Given the description of an element on the screen output the (x, y) to click on. 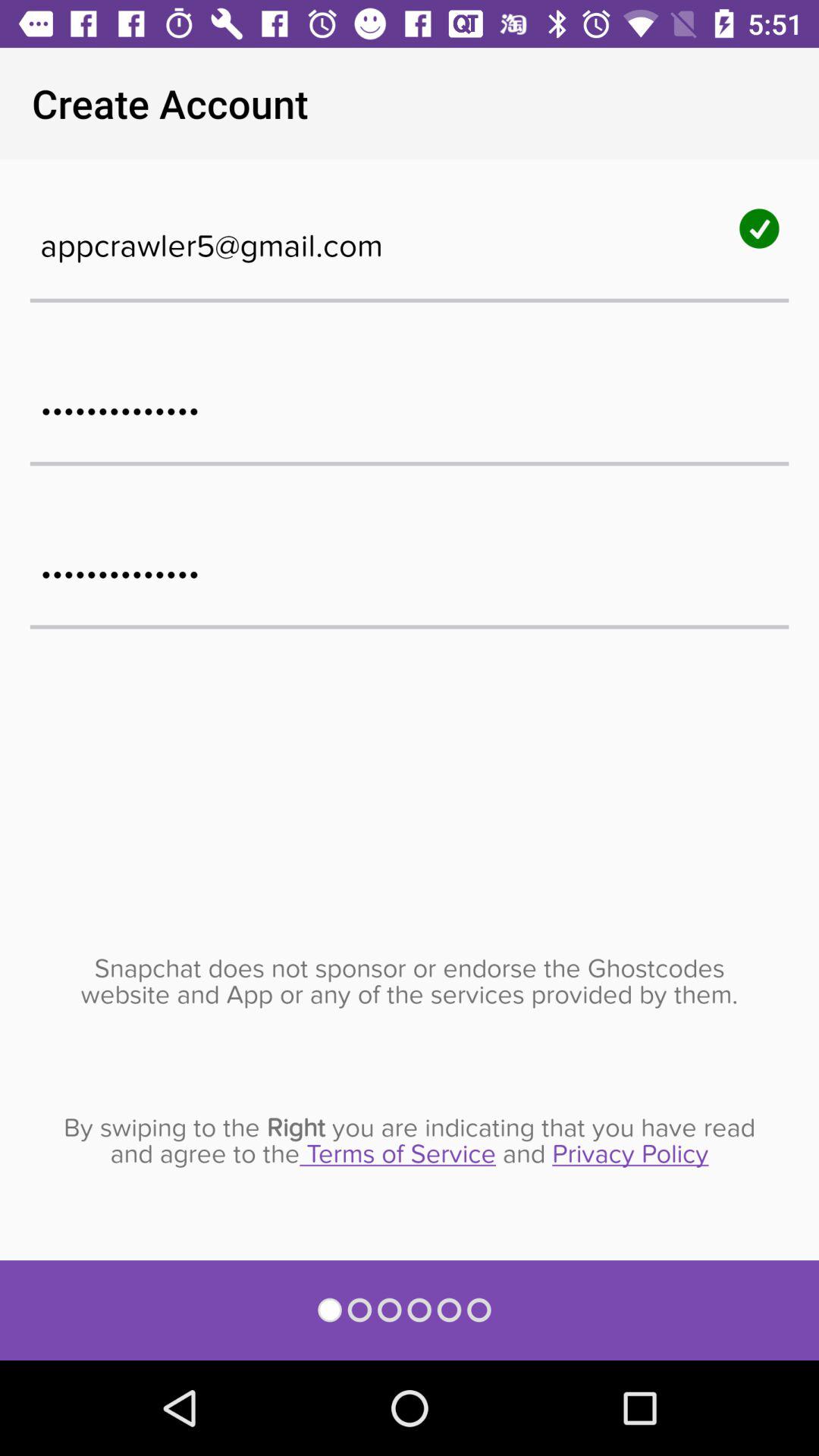
scroll until the by swiping to (409, 1141)
